Given the description of an element on the screen output the (x, y) to click on. 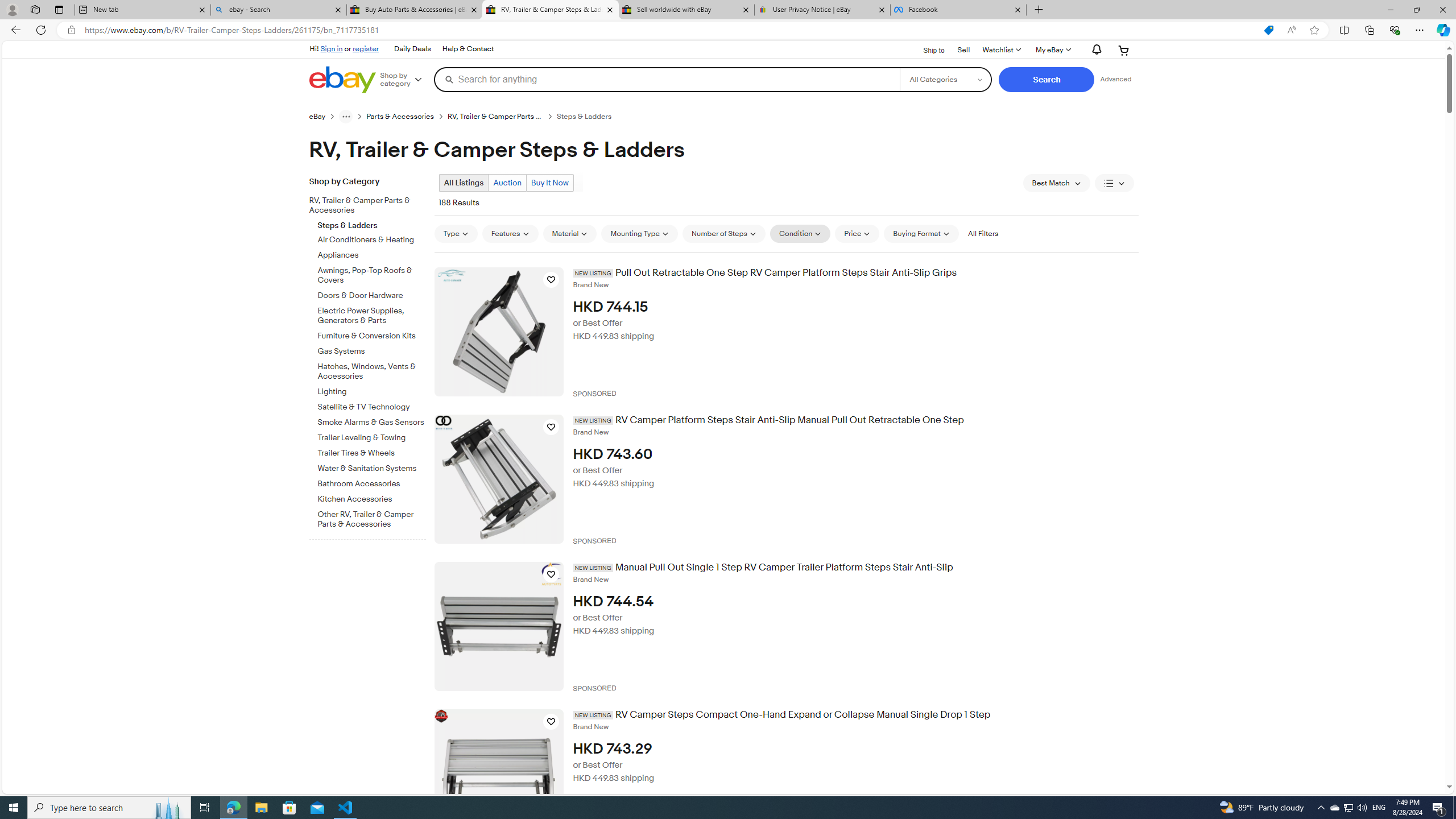
Your shopping cart (1123, 49)
My eBayExpand My eBay (1052, 49)
Mounting Type (639, 233)
Condition (800, 233)
Number of Steps (723, 233)
Daily Deals (412, 49)
Features (509, 233)
RV, Trailer & Camper Steps & Ladders for sale | eBay (550, 9)
eBay (317, 116)
Material (569, 233)
